Given the description of an element on the screen output the (x, y) to click on. 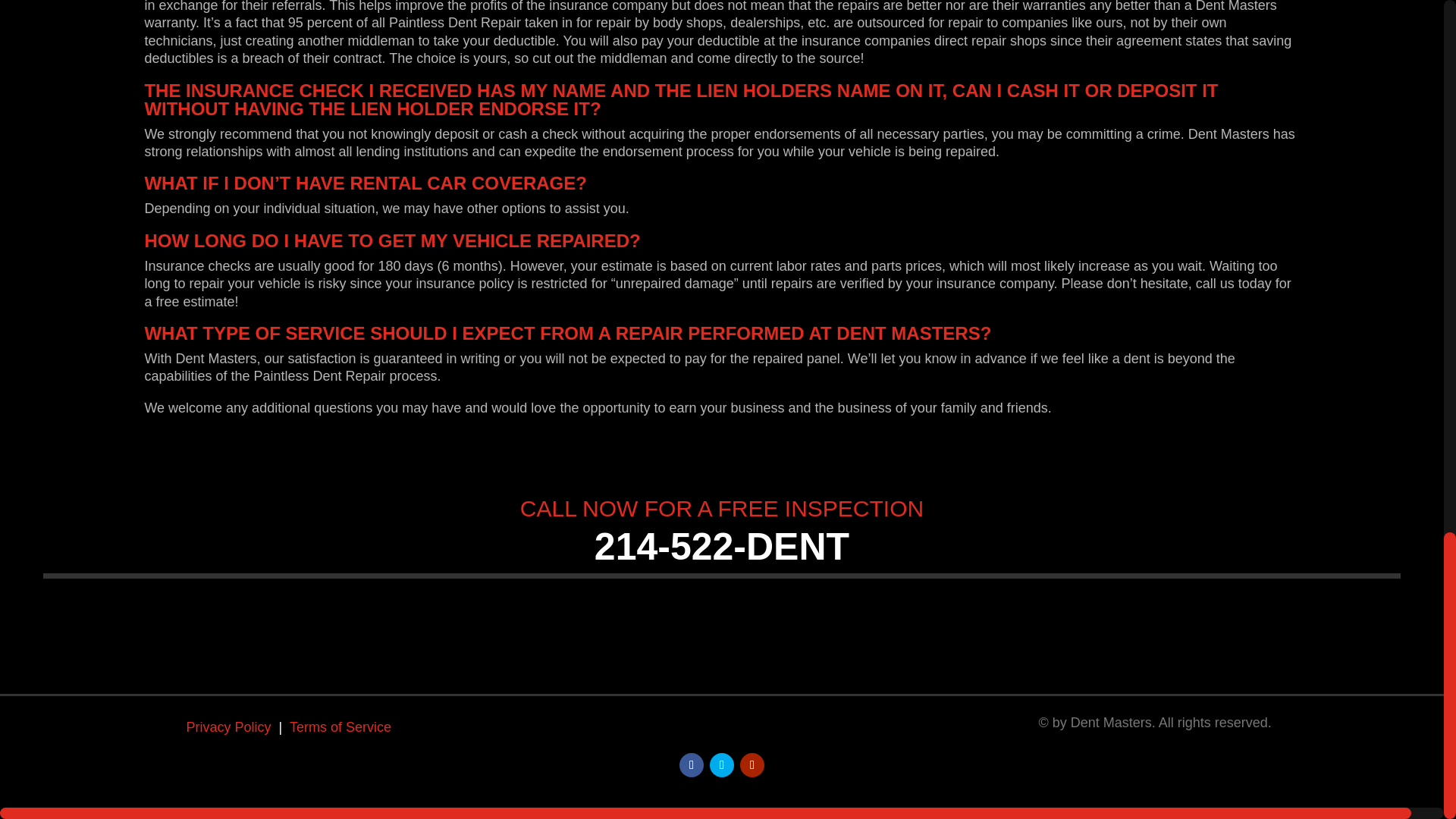
Follow on Youtube (751, 764)
Follow on Twitter (721, 764)
Follow on Facebook (691, 764)
